Given the description of an element on the screen output the (x, y) to click on. 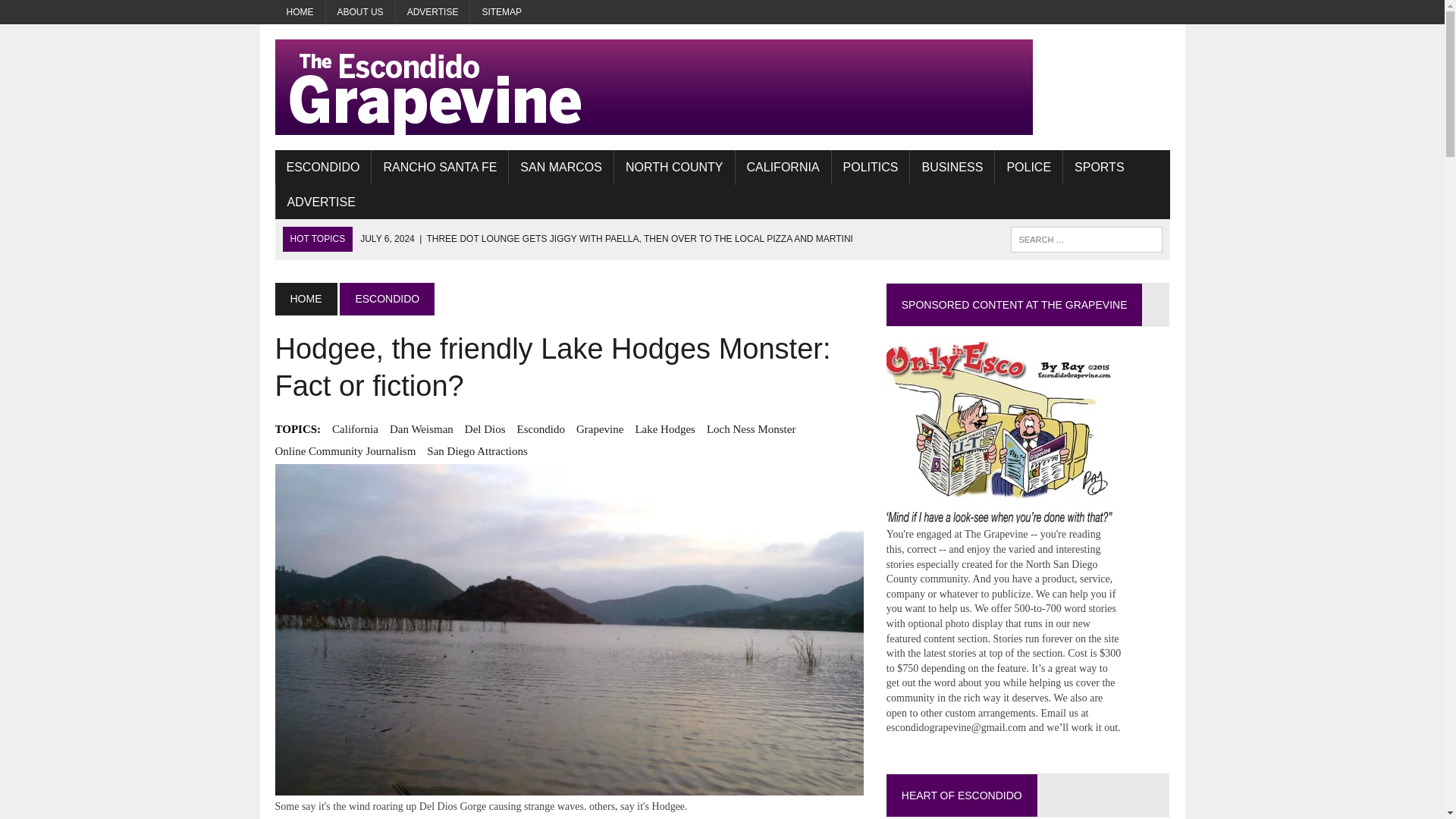
Search (75, 14)
POLITICS (870, 167)
POLICE (1028, 167)
California (354, 429)
Escondido (540, 429)
Lake Hodges (664, 429)
ADVERTISE (321, 202)
ABOUT US (360, 12)
SAN MARCOS (560, 167)
Escondido Grapevine (722, 87)
